Given the description of an element on the screen output the (x, y) to click on. 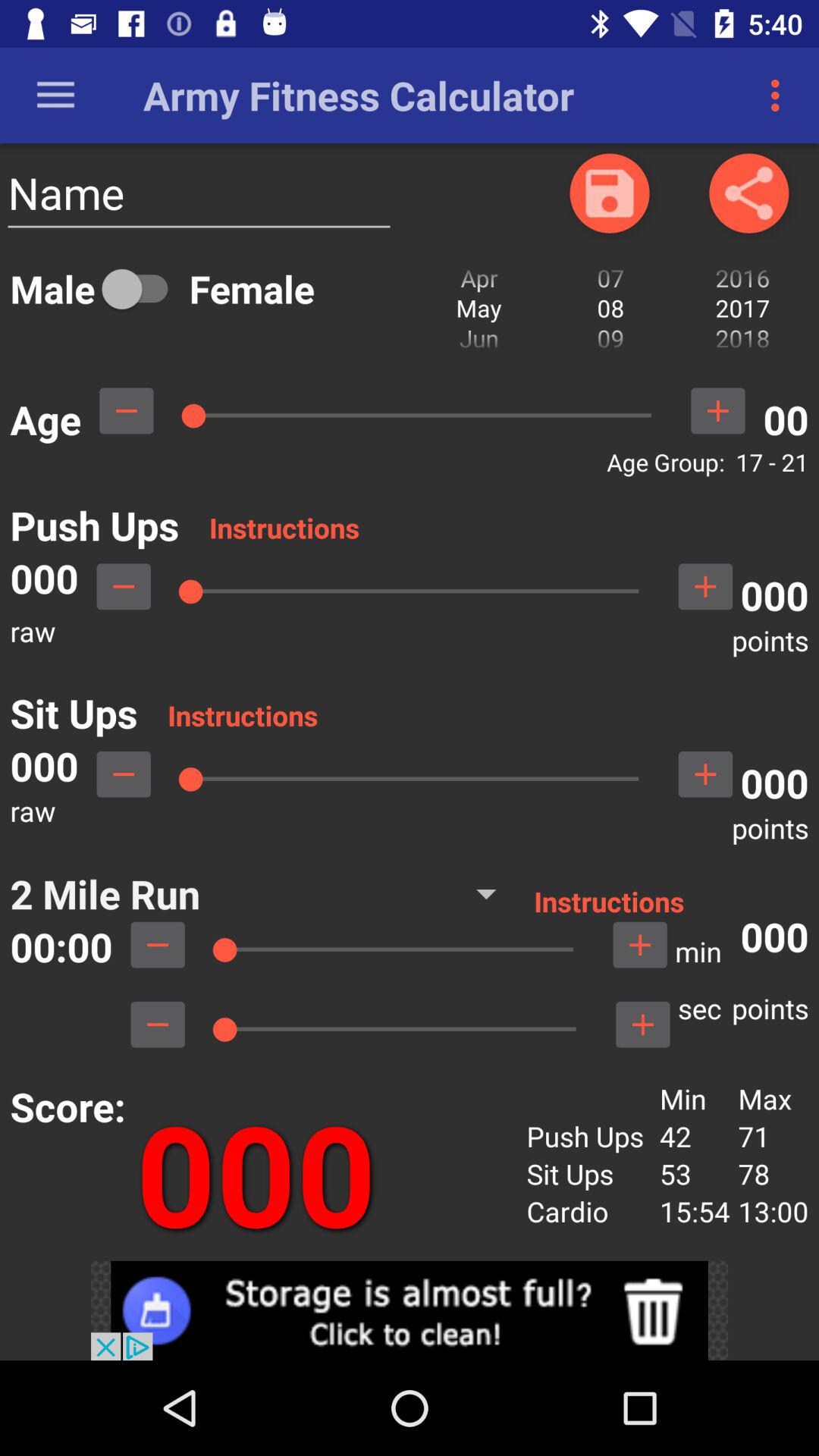
select contact (609, 193)
